Given the description of an element on the screen output the (x, y) to click on. 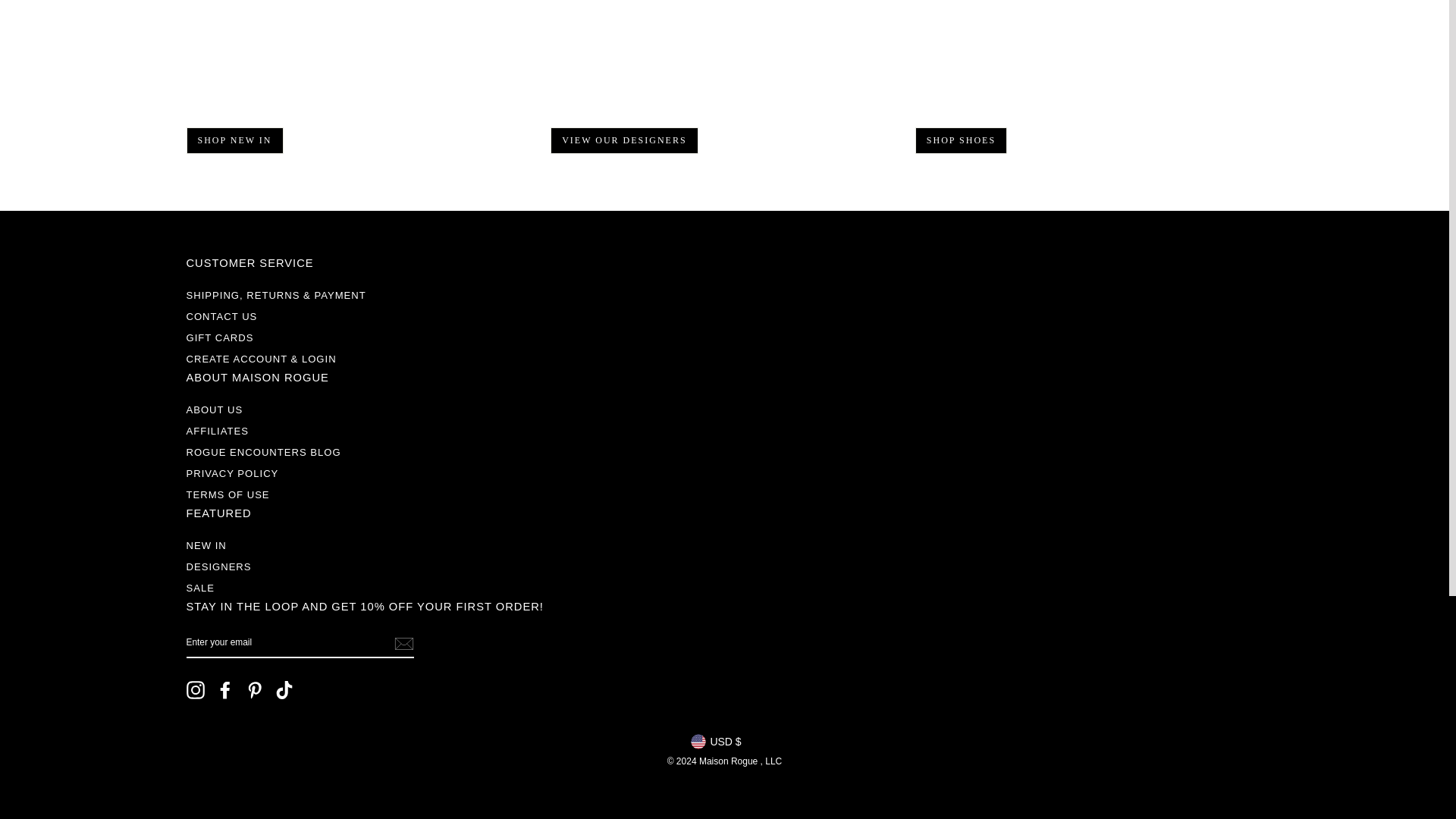
Maison Rogue on Instagram (195, 689)
Maison Rogue on Pinterest (254, 689)
Maison Rogue on TikTok (283, 689)
Maison Rogue on Facebook (223, 689)
